Given the description of an element on the screen output the (x, y) to click on. 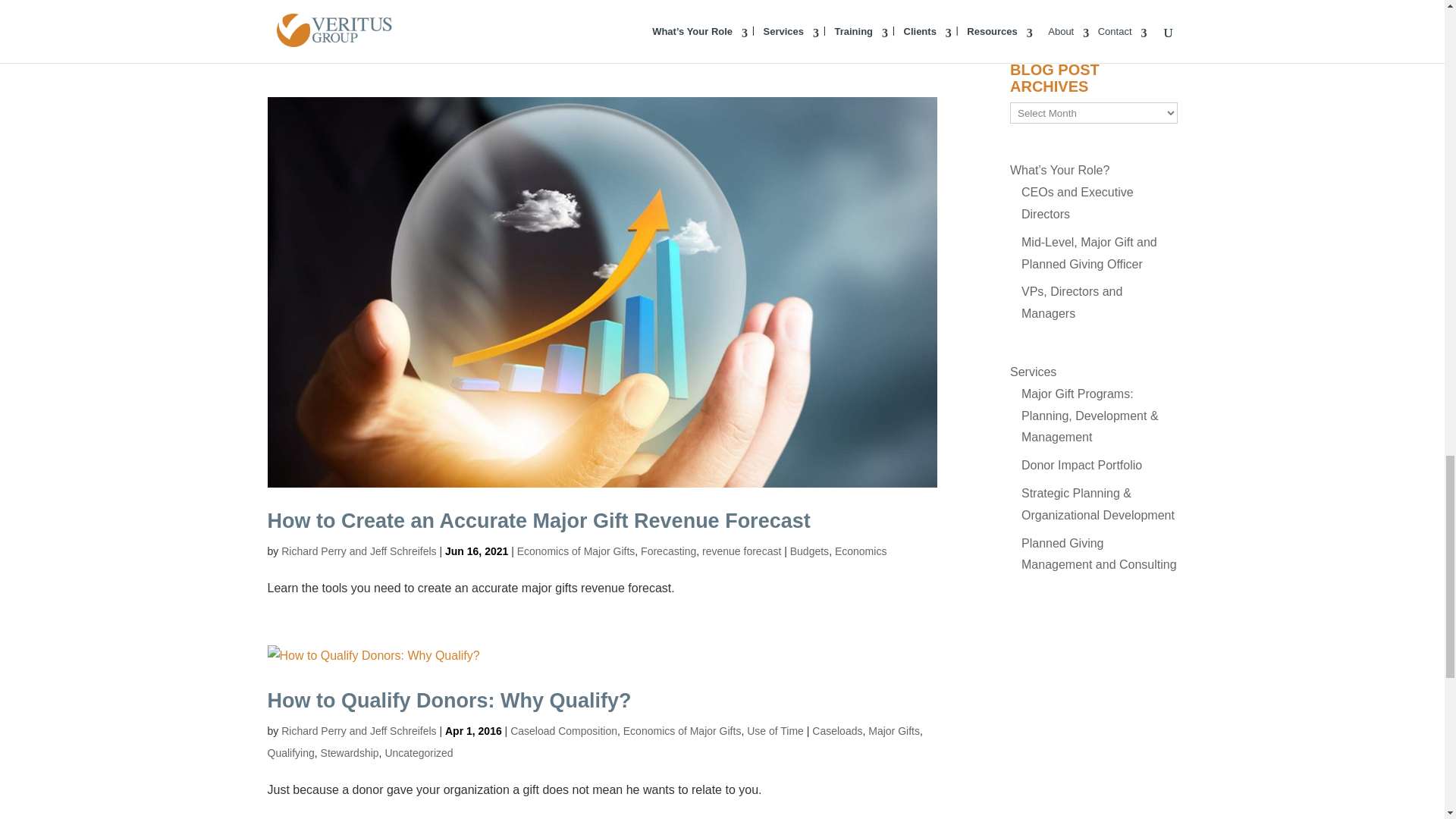
Posts by Richard Perry and Jeff Schreifels (358, 730)
Posts by Richard Perry and Jeff Schreifels (358, 551)
Posts by Richard Perry and Jeff Schreifels (358, 4)
